Given the description of an element on the screen output the (x, y) to click on. 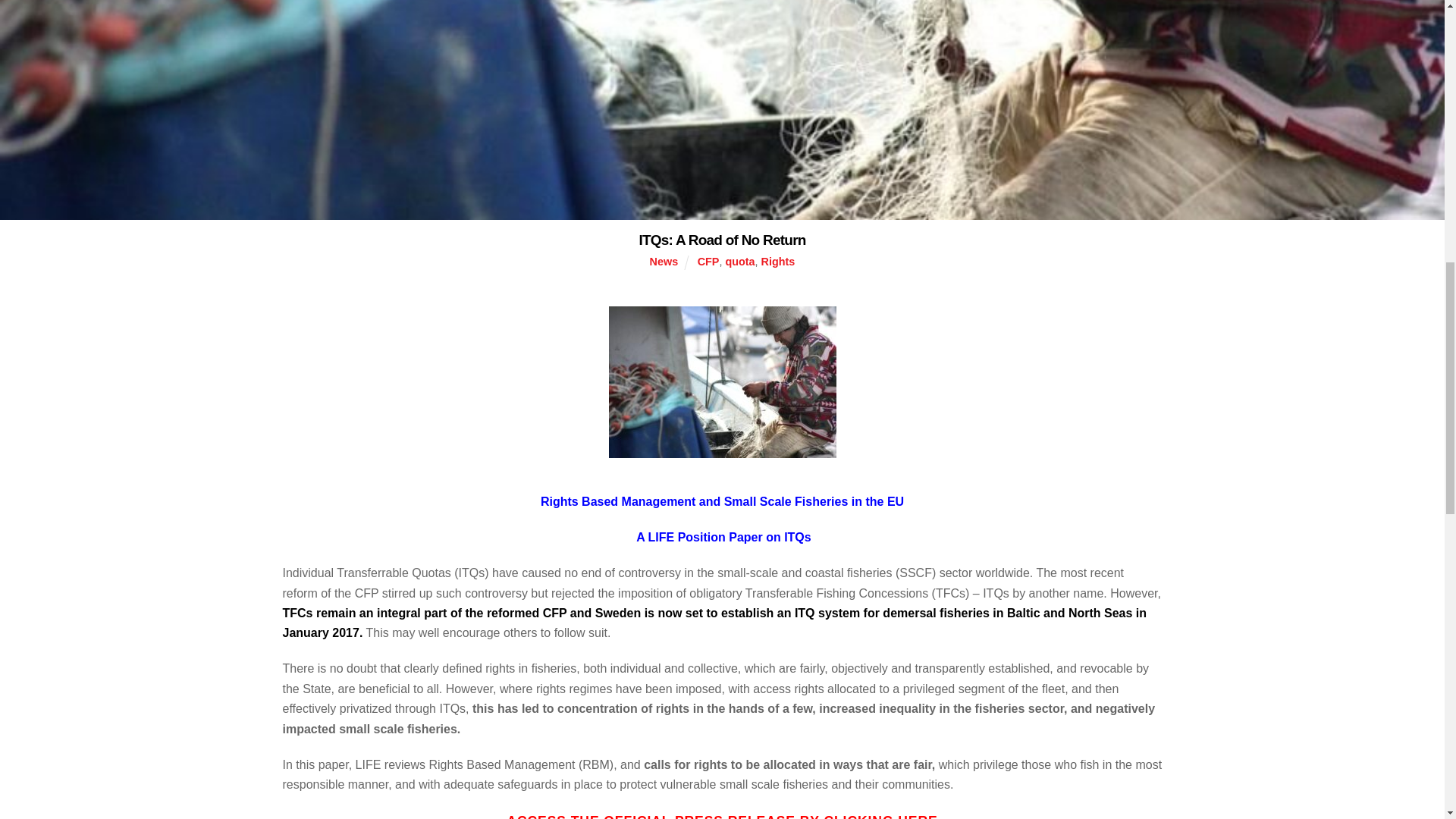
ACCESS THE OFFICIAL PRESS RELEASE BY CLICKING HERE (721, 816)
News (663, 261)
ITQs: A Road of No Return (722, 239)
quota (739, 261)
CFP (708, 261)
Rights (777, 261)
